Given the description of an element on the screen output the (x, y) to click on. 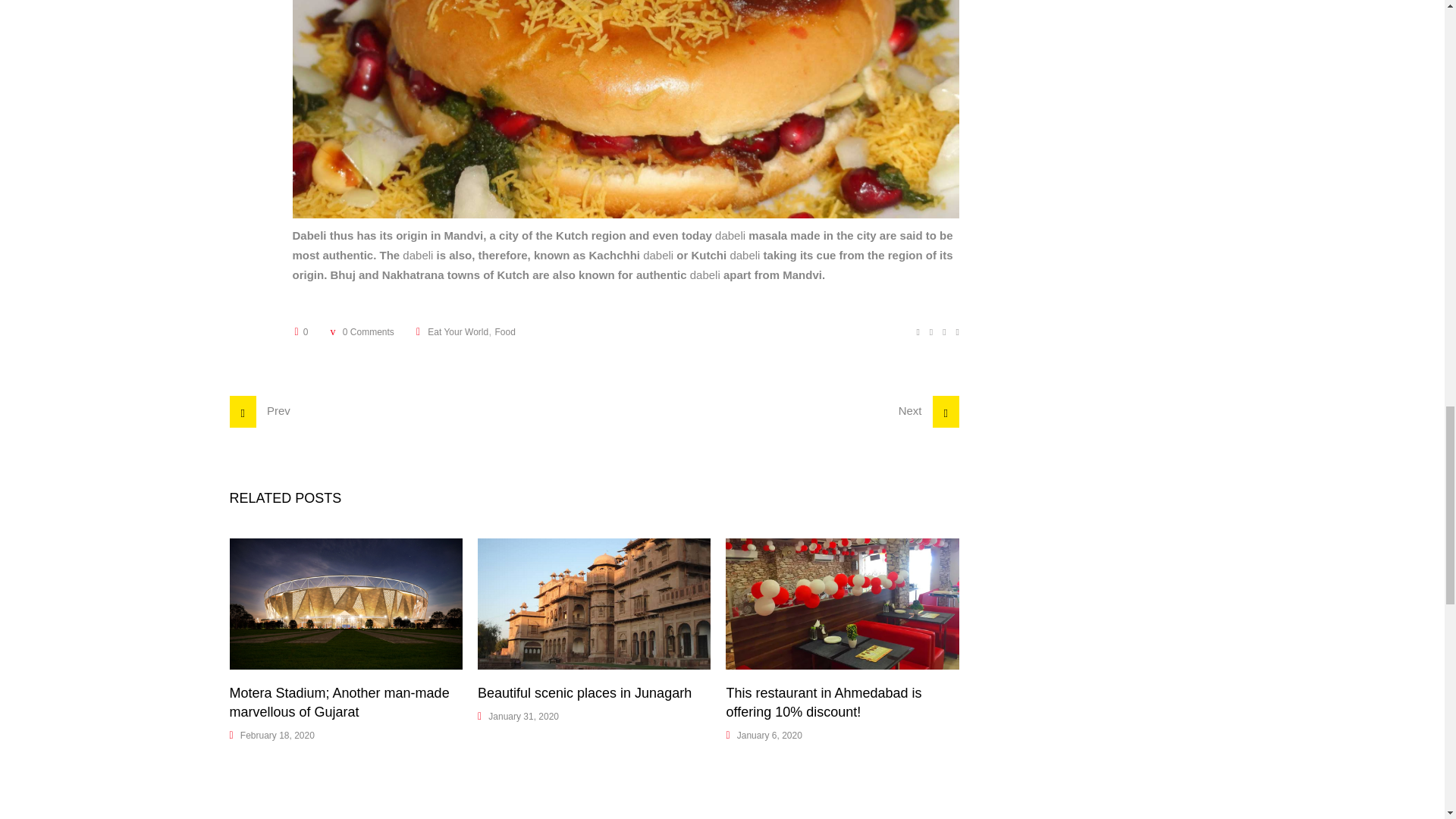
0 Comments (361, 331)
Eat Your World (457, 331)
Like this (300, 331)
Motera Stadium; Another man-made marvellous of Gujarat (338, 702)
Beautiful scenic places in Junagarh (584, 693)
Food (505, 331)
0 (300, 331)
Beautiful scenic places in Junagarh (593, 603)
Motera Stadium; Another man-made marvellous of Gujarat (344, 603)
